Given the description of an element on the screen output the (x, y) to click on. 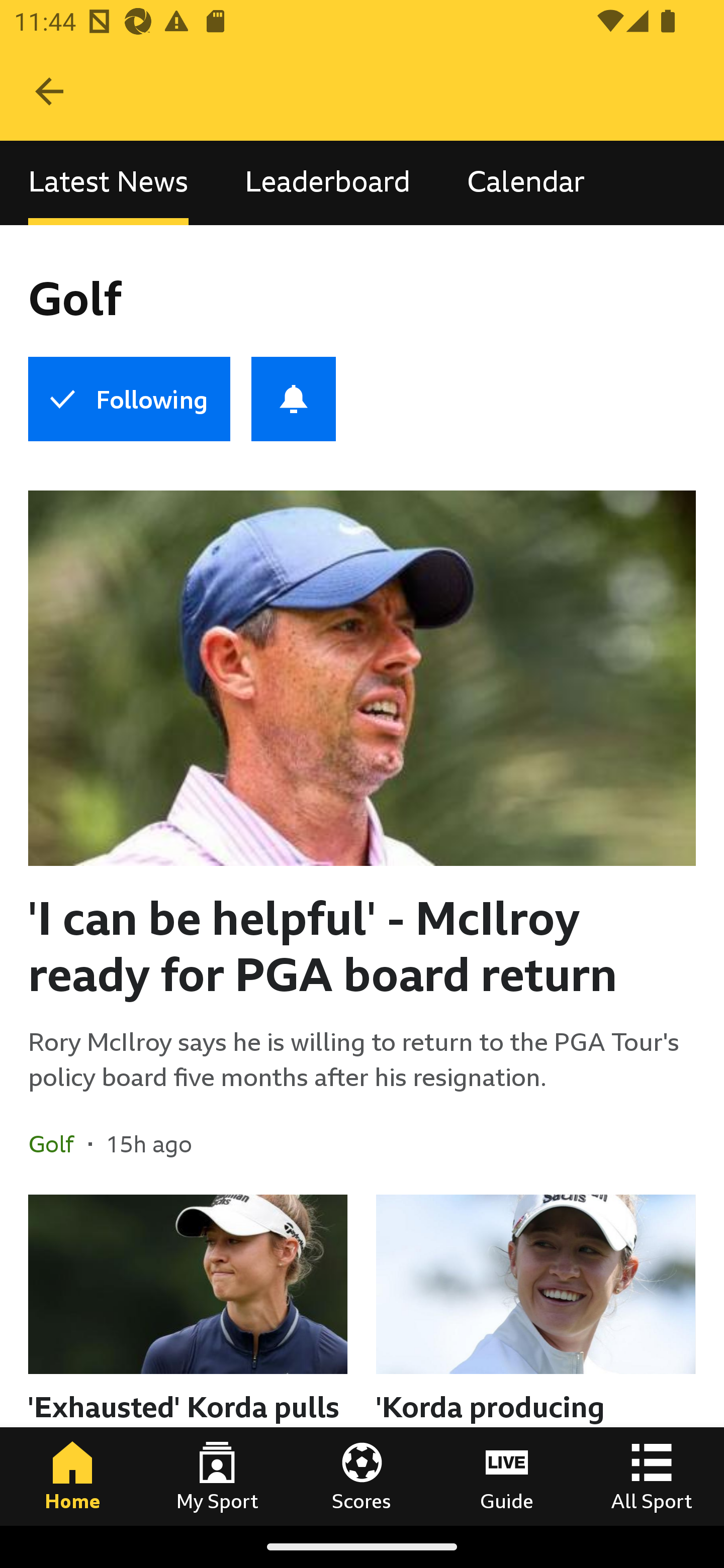
Navigate up (49, 91)
Latest News, selected Latest News (108, 183)
Leaderboard (327, 183)
Calendar (525, 183)
Following Golf Following (129, 398)
Push notifications for Golf (293, 398)
My Sport (216, 1475)
Scores (361, 1475)
Guide (506, 1475)
All Sport (651, 1475)
